Given the description of an element on the screen output the (x, y) to click on. 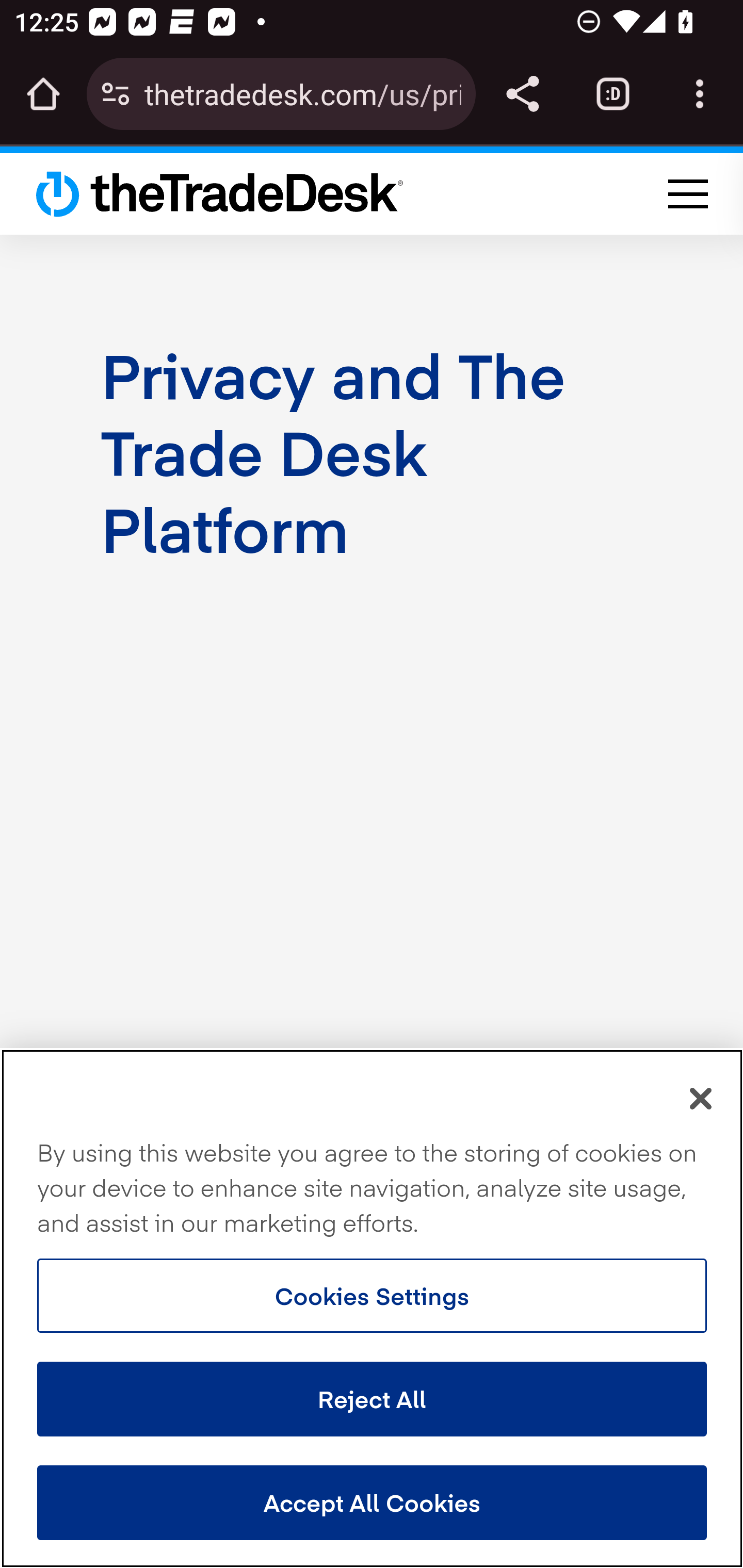
Open the home page (43, 93)
Connection is secure (115, 93)
Share (522, 93)
Switch or close tabs (612, 93)
Customize and control Google Chrome (699, 93)
thetradedesk.com/us/privacy (302, 92)
The Trade Desk Logo (220, 193)
Close (701, 1098)
Cookies Settings (372, 1295)
Reject All (372, 1399)
Accept All Cookies (372, 1502)
